Given the description of an element on the screen output the (x, y) to click on. 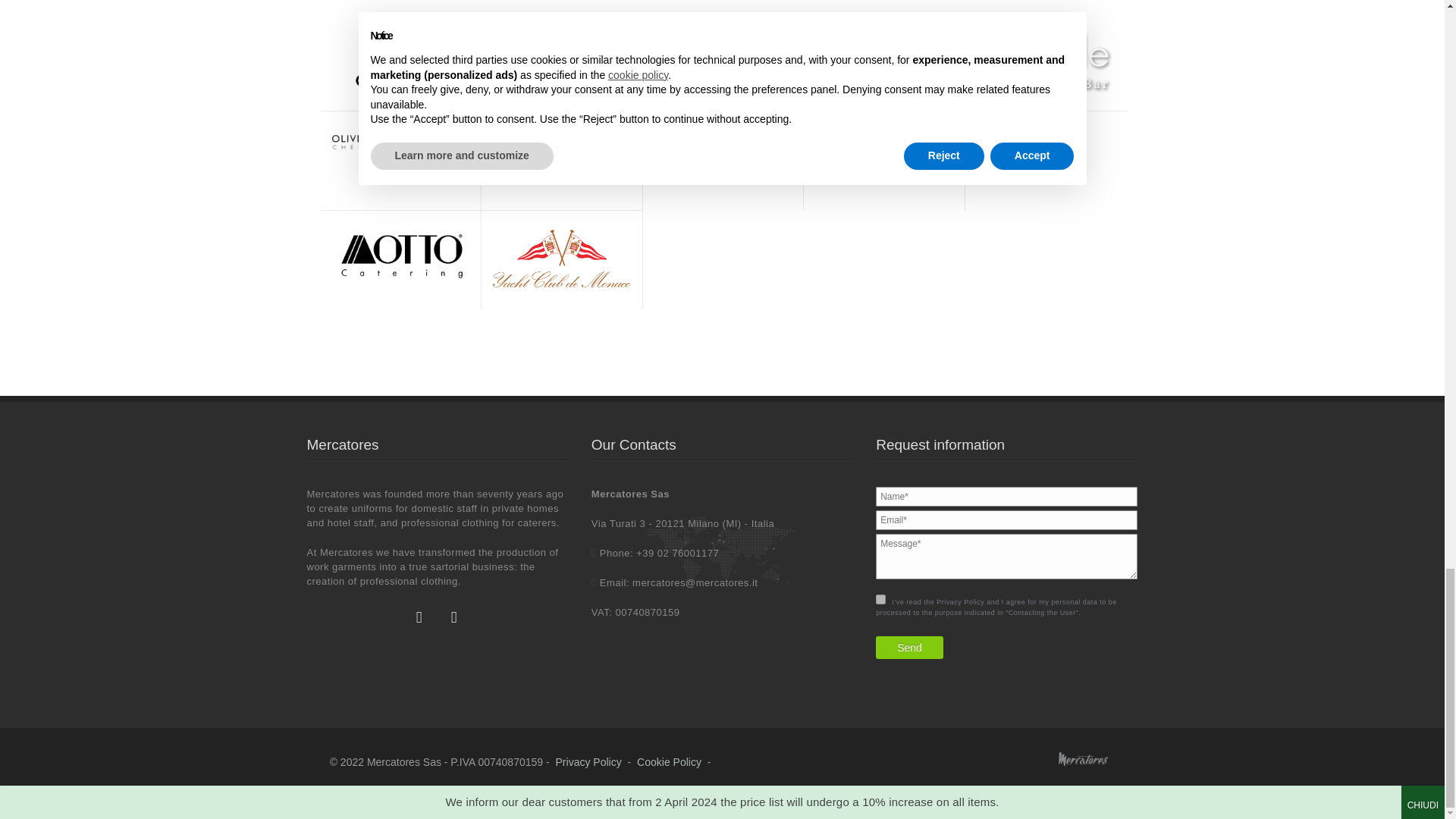
1 (880, 599)
Cookie Policy  (669, 761)
Send (909, 647)
Privacy Policy  (588, 761)
